Given the description of an element on the screen output the (x, y) to click on. 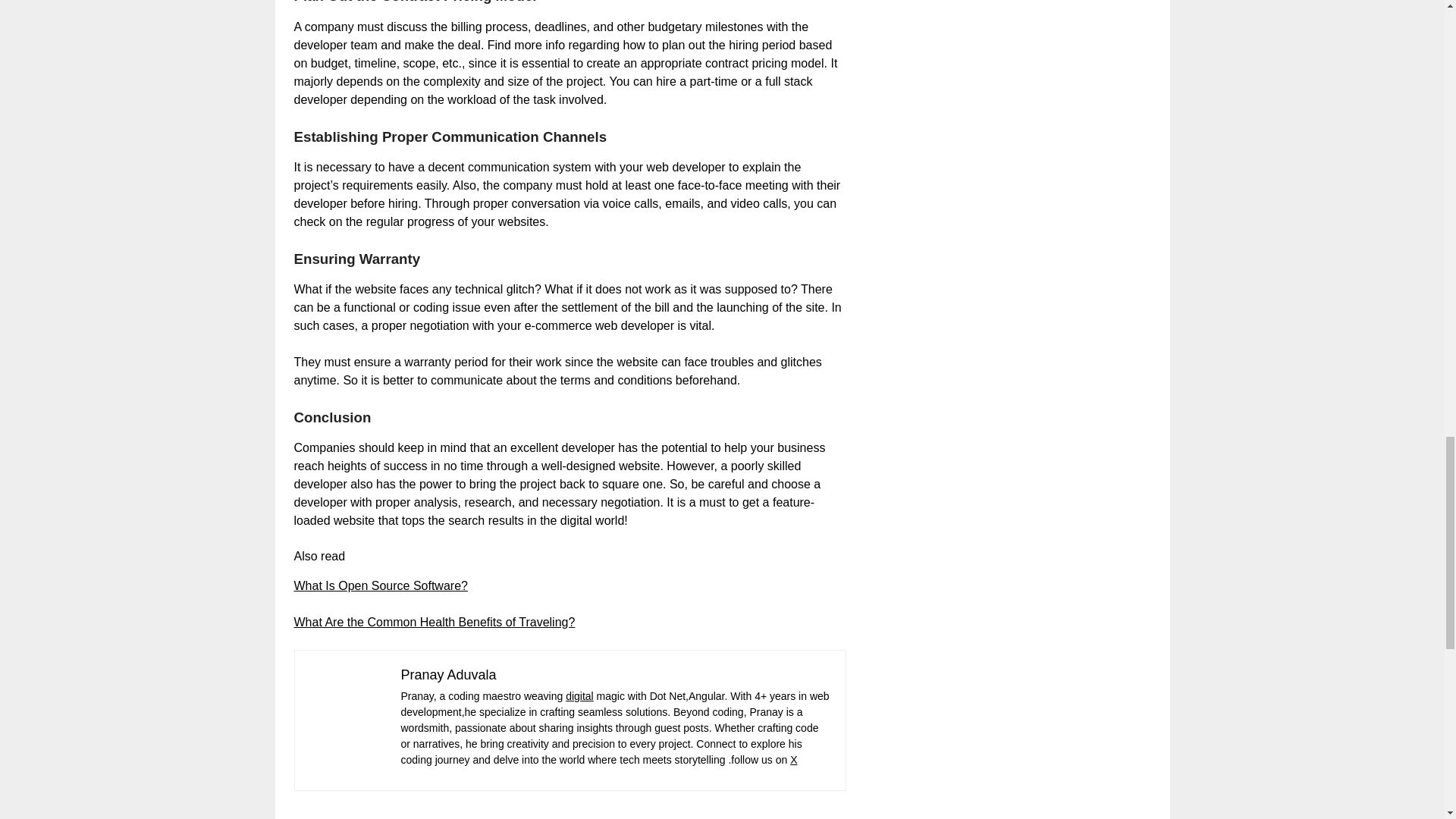
What Is Open Source Software? (380, 585)
digital (580, 695)
What Are the Common Health Benefits of Traveling? (434, 621)
Pranay Aduvala (448, 674)
